Given the description of an element on the screen output the (x, y) to click on. 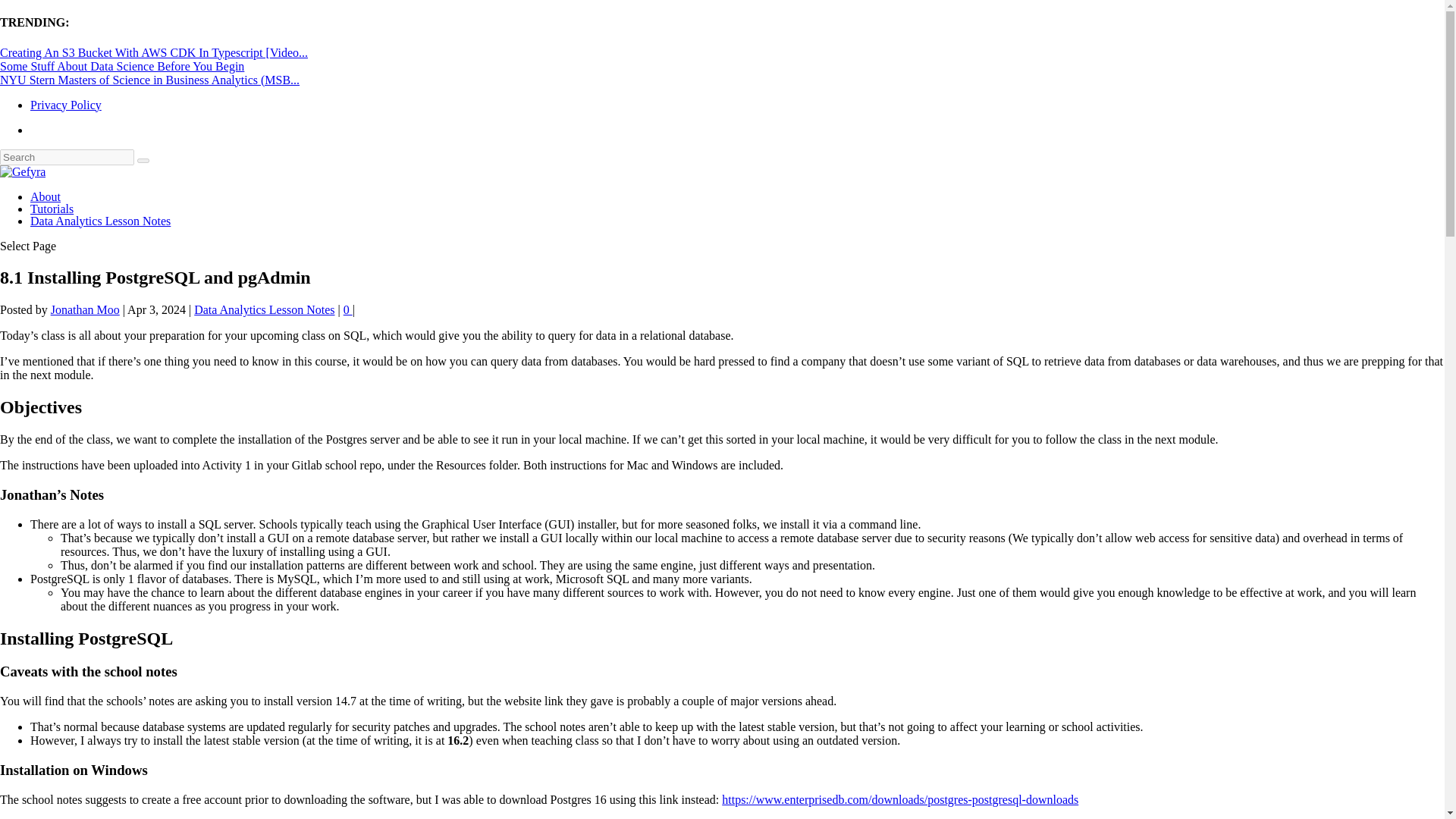
Some Stuff About Data Science Before You Begin (122, 65)
Tutorials (52, 208)
Jonathan Moo (84, 309)
Data Analytics Lesson Notes (100, 220)
About (45, 196)
Data Analytics Lesson Notes (263, 309)
Posts by Jonathan Moo (84, 309)
Search for: (66, 157)
Privacy Policy (65, 104)
